Given the description of an element on the screen output the (x, y) to click on. 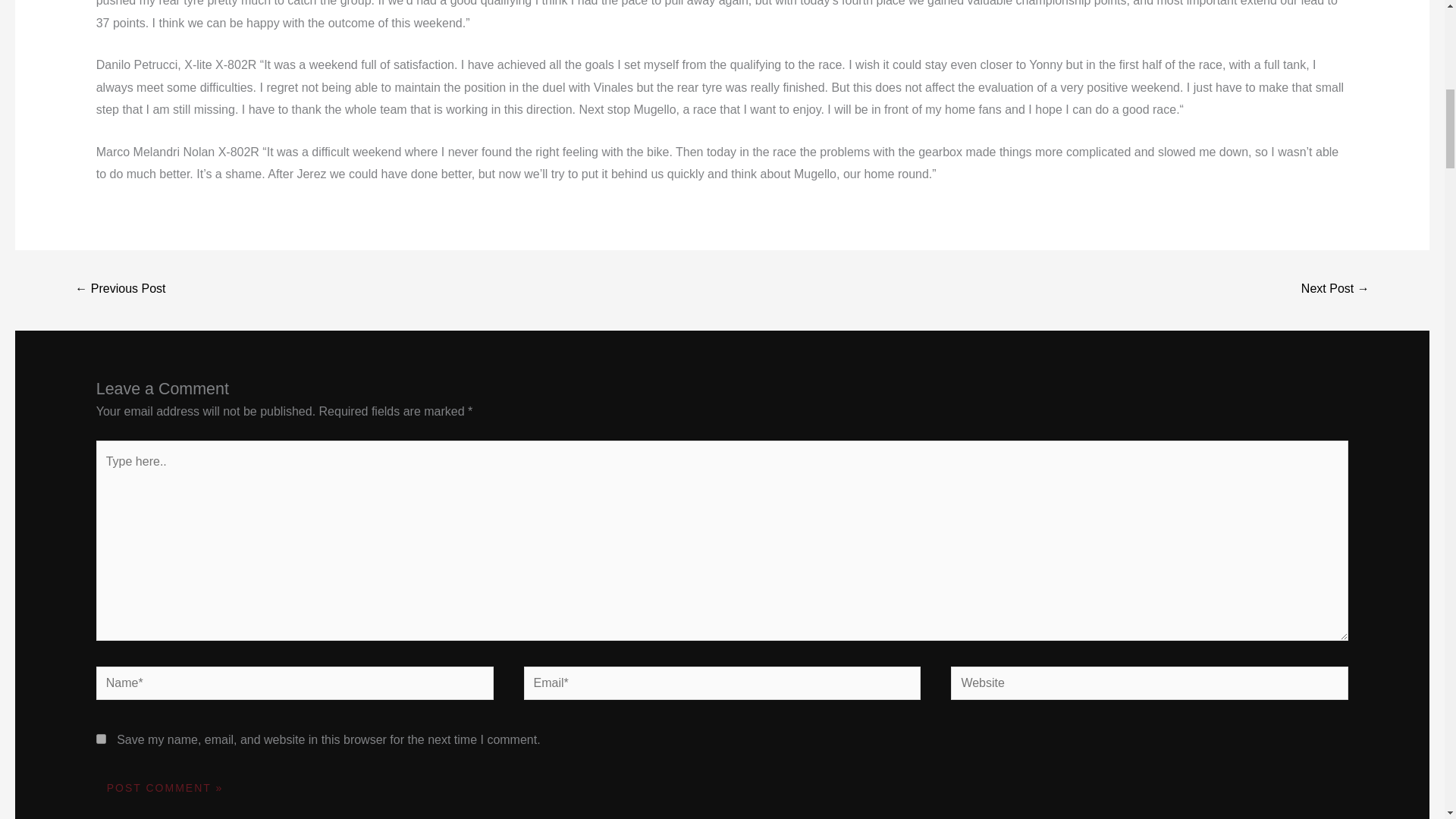
Donington SBK: Podium once again for Chaz Davies (1334, 289)
Imola SBK: Great result for Badovini (119, 289)
yes (101, 738)
